Given the description of an element on the screen output the (x, y) to click on. 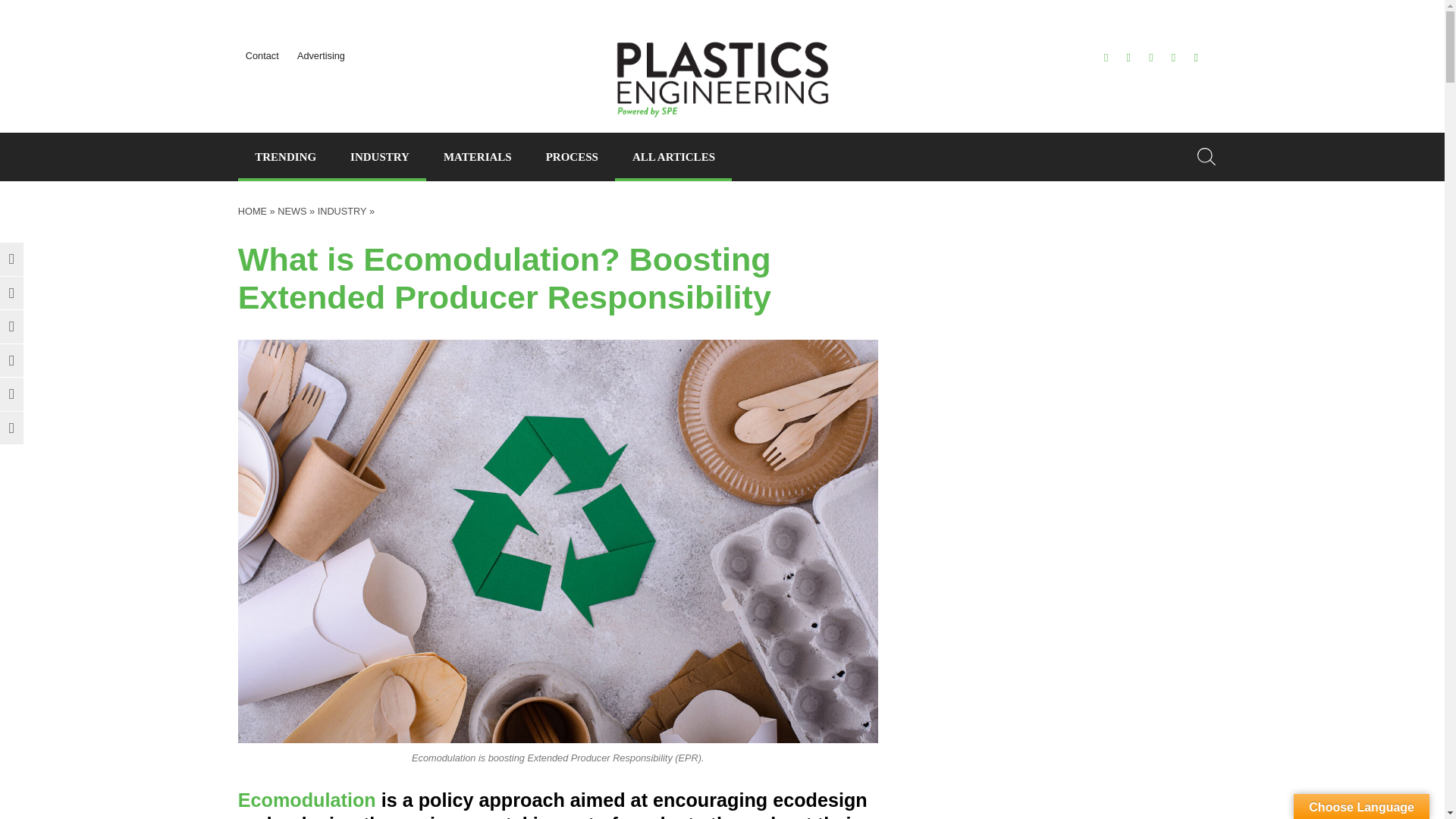
Instagram (1173, 57)
Contact (262, 55)
TRENDING (285, 156)
Linkedin (11, 326)
MATERIALS (477, 156)
Advertising (321, 55)
Reddit (11, 360)
Twitter (11, 259)
Envoyer par mail (11, 394)
Youtube (1195, 57)
Facebook (11, 292)
X (1105, 57)
INDUSTRY (379, 156)
PROCESS (571, 156)
Linkedin (1150, 57)
